Given the description of an element on the screen output the (x, y) to click on. 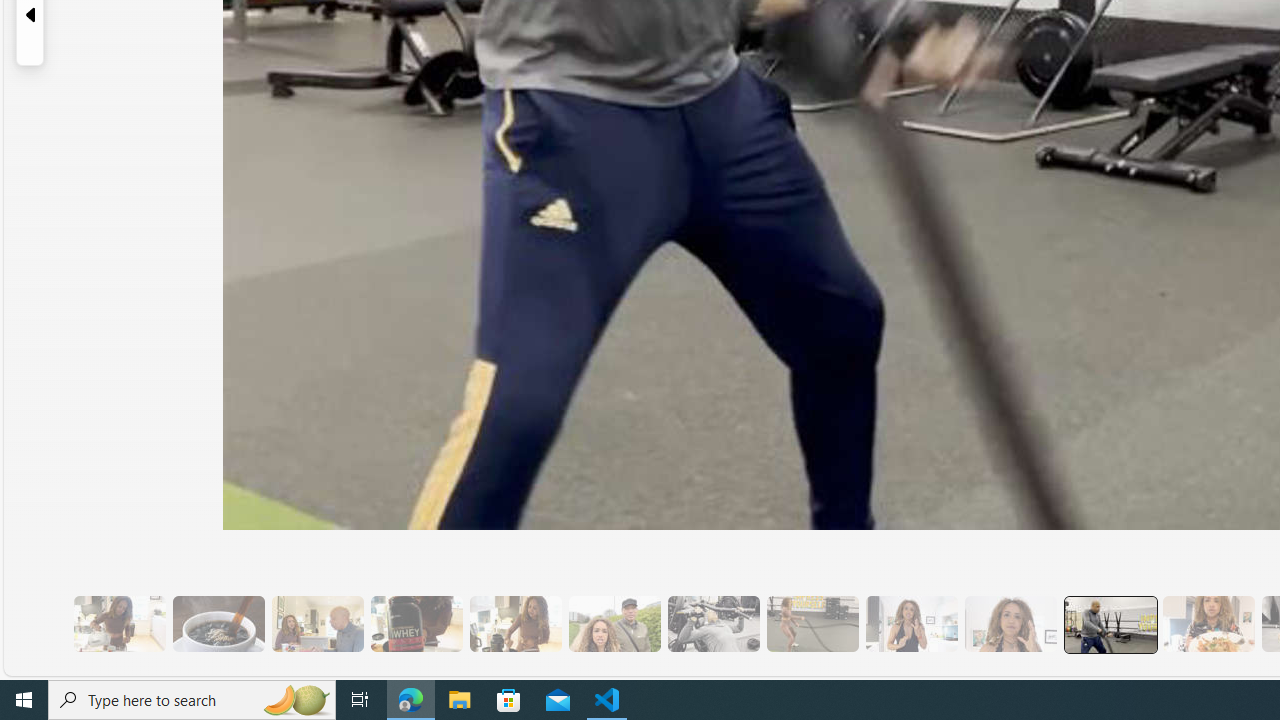
8 They Walk to the Gym (614, 624)
14 They Have Salmon and Veggies for Dinner (1208, 624)
13 Her Husband Does Group Cardio Classs (1108, 624)
6 Since Eating More Protein Her Training Has Improved (416, 624)
11 They Eat More Protein for Breakfast (911, 624)
10 Then, They Do HIIT Cardio (811, 624)
9 They Do Bench Exercises (713, 624)
10 Then, They Do HIIT Cardio (811, 624)
8 They Walk to the Gym (614, 624)
8 Be Mindful of Coffee (217, 624)
11 They Eat More Protein for Breakfast (911, 624)
3 They Drink Lemon Tea (119, 624)
5 She Eats Less Than Her Husband (317, 624)
